Given the description of an element on the screen output the (x, y) to click on. 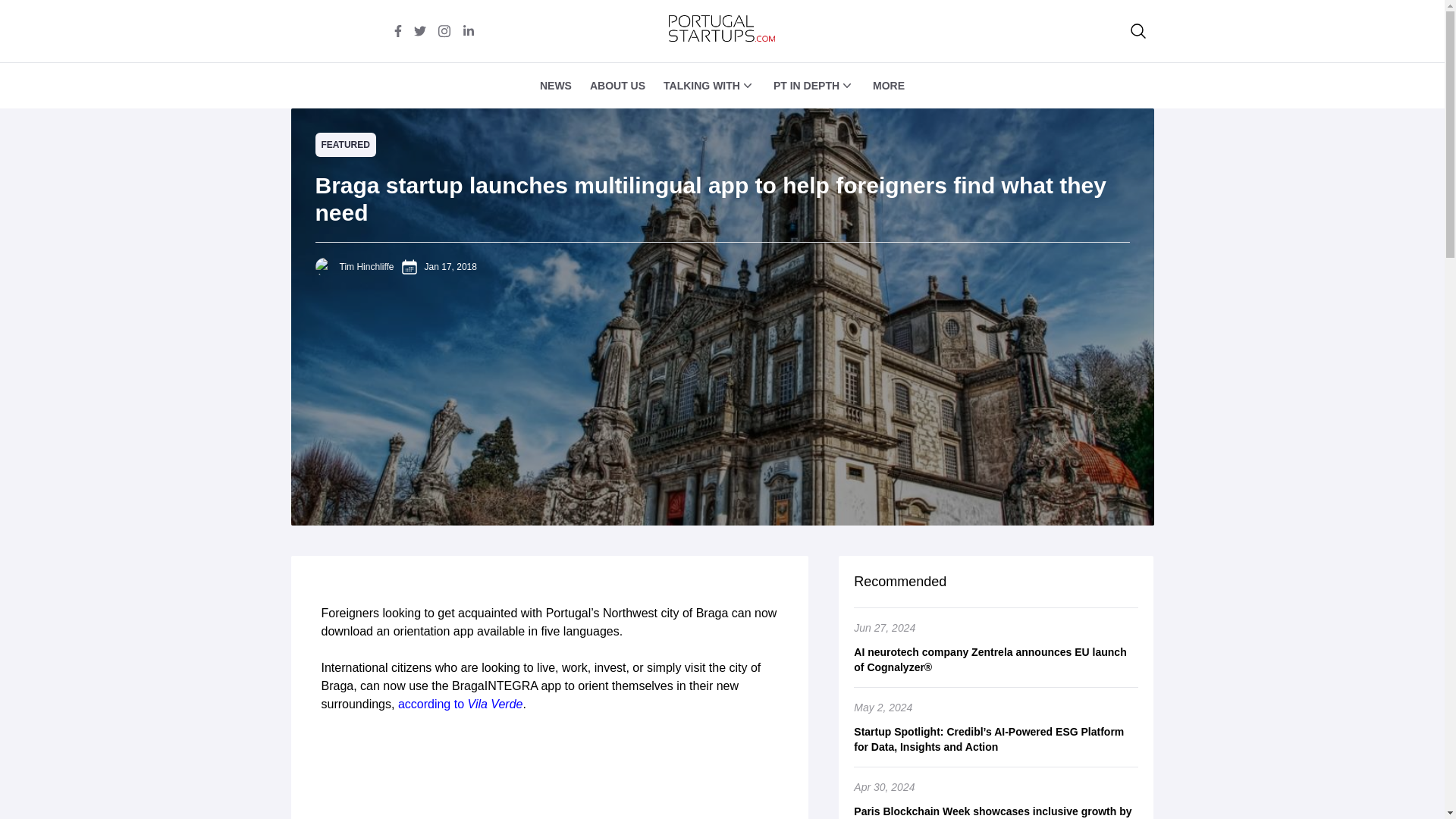
MORE (888, 85)
NEWS (556, 85)
Paris Blockchain Week showcases inclusive growth by Web3 (995, 811)
according to Vila Verde (459, 703)
PT IN DEPTH (806, 85)
TALKING WITH (701, 85)
ABOUT US (617, 85)
FEATURED (345, 144)
Tim Hinchliffe (366, 266)
